Given the description of an element on the screen output the (x, y) to click on. 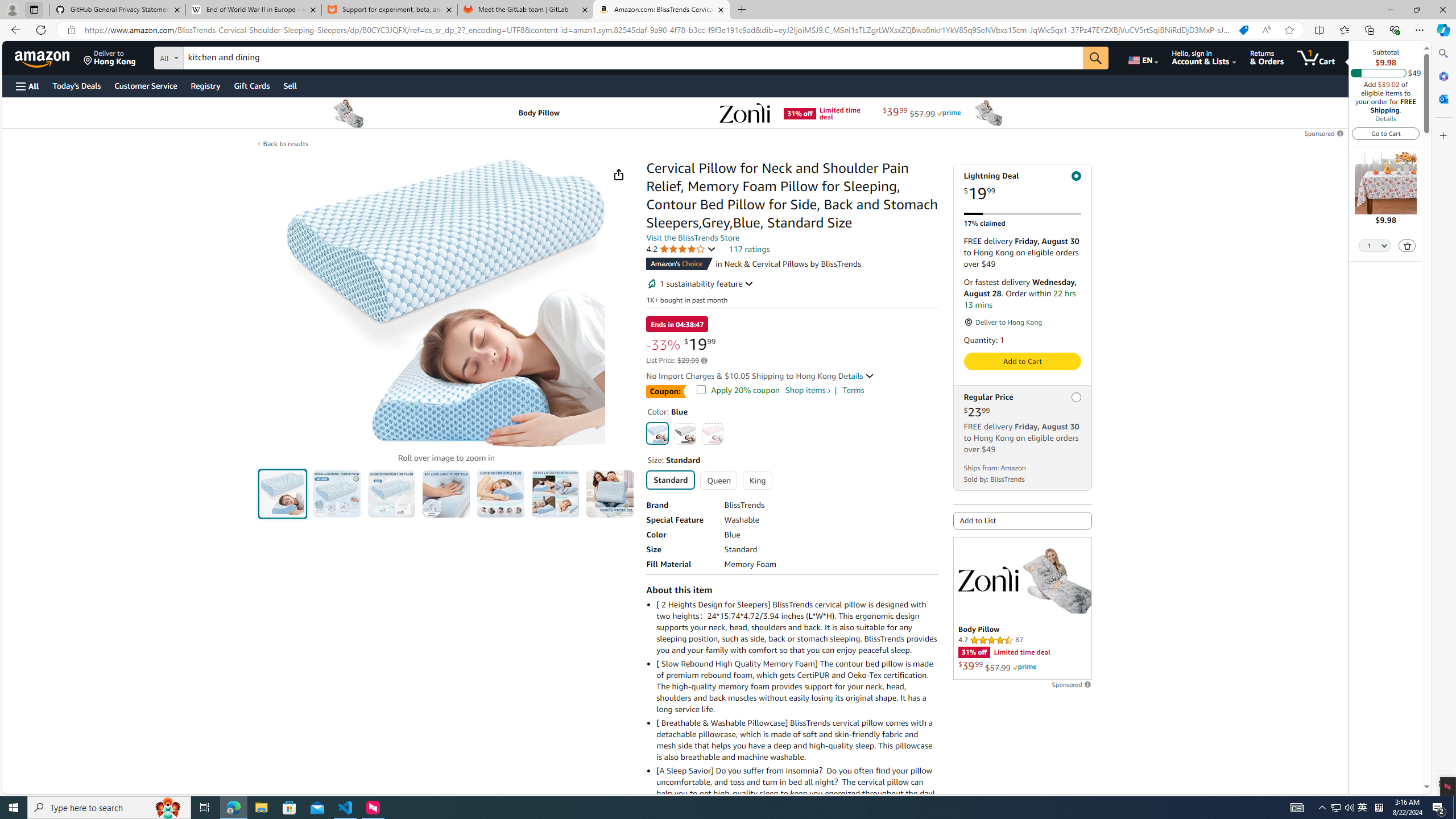
Quantity Selector (1374, 246)
Search in (210, 56)
4.2 4.2 out of 5 stars (681, 248)
Back to results (285, 144)
117 ratings (749, 248)
Hello, sign in Account & Lists (1203, 57)
You have the best price! (1243, 29)
Details (1385, 118)
Choose a language for shopping. (1142, 57)
Sustainability features (652, 283)
